Given the description of an element on the screen output the (x, y) to click on. 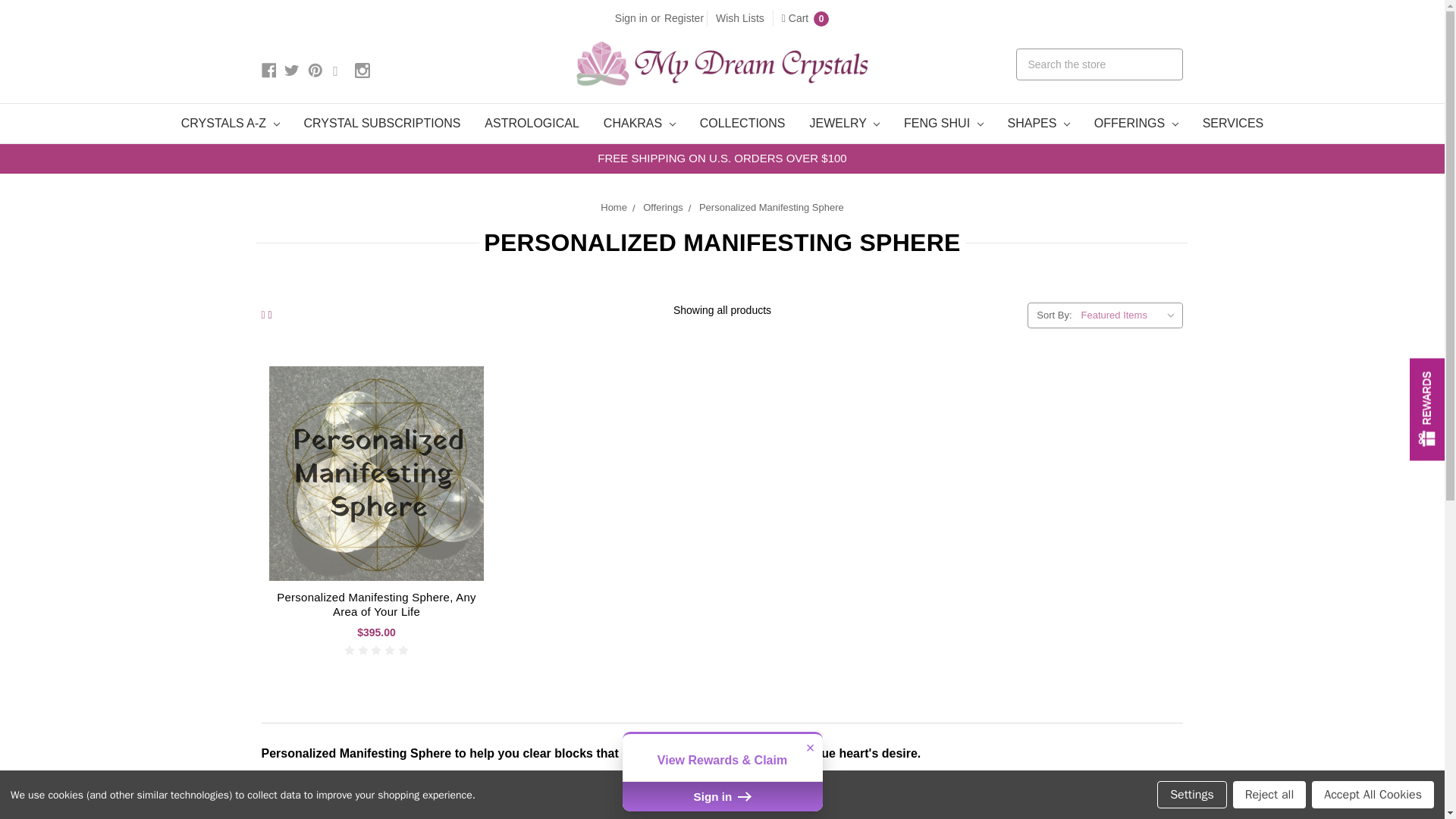
Wish Lists (740, 18)
My Dream Crystals (721, 63)
Register (683, 18)
Personalized Manifesting Sphere (376, 473)
Cart 0 (805, 18)
Sign in (631, 18)
CRYSTALS A-Z (230, 123)
